Given the description of an element on the screen output the (x, y) to click on. 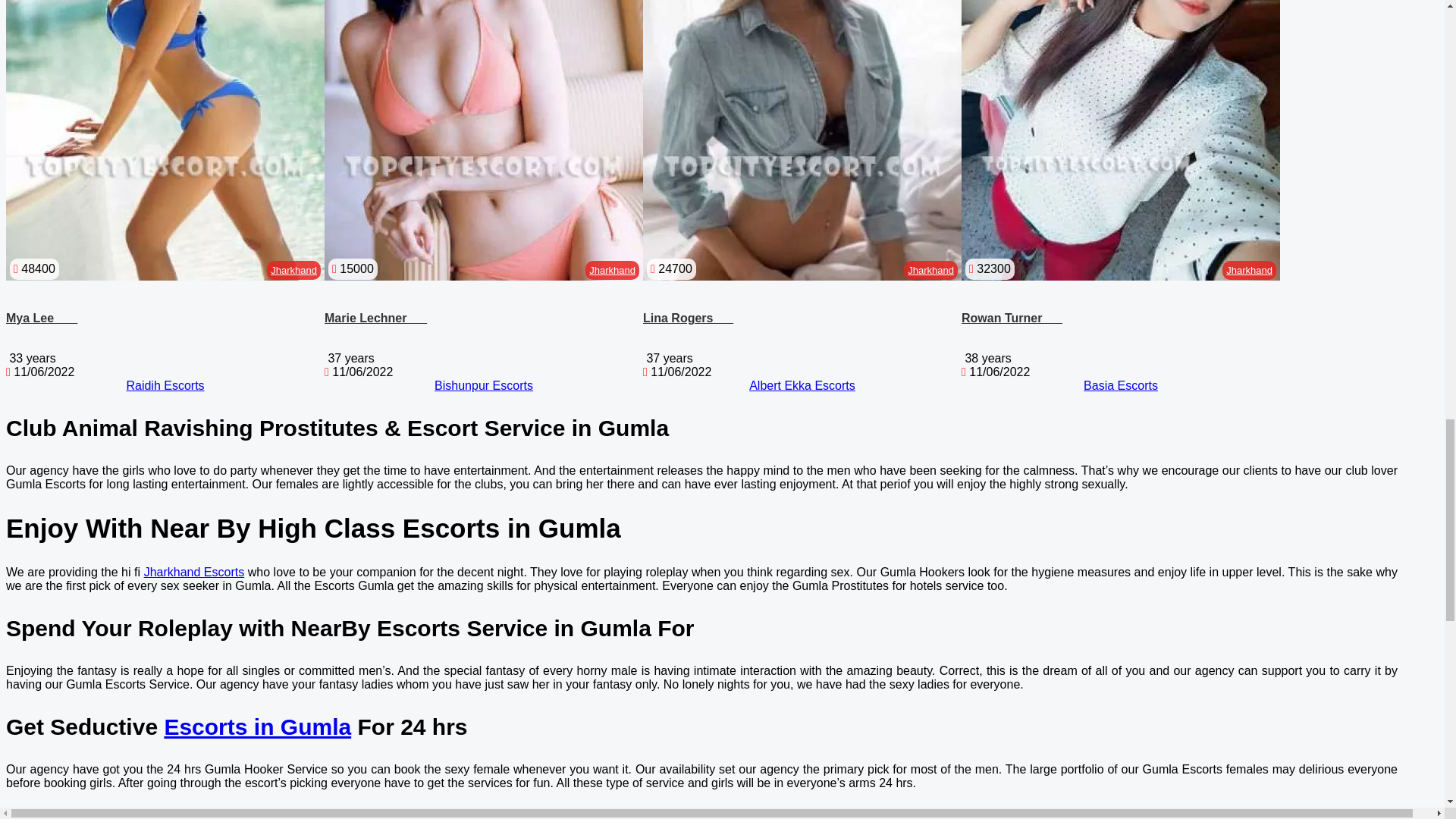
Marie Lechner (375, 318)
Mya Lee (41, 318)
